Given the description of an element on the screen output the (x, y) to click on. 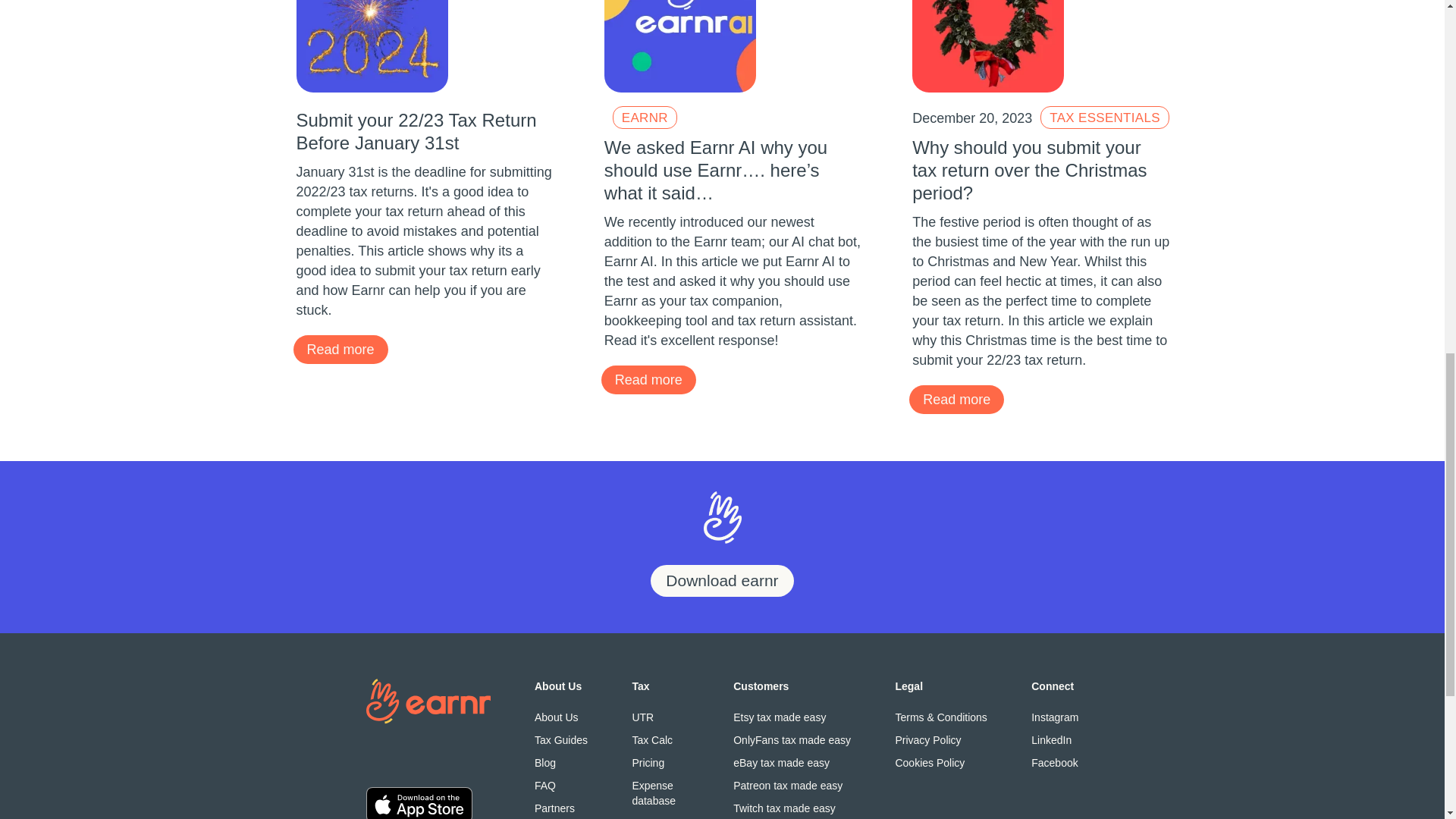
Read more (648, 379)
Read more (956, 399)
About Us (561, 717)
TAX ESSENTIALS (1105, 117)
Read more (339, 348)
Blog (561, 762)
Partners (561, 807)
Tax Calc (659, 739)
Pricing (659, 762)
Download earnr (721, 581)
FAQ (561, 785)
EARNR (644, 117)
Tax Guides (561, 739)
UTR (659, 717)
